Given the description of an element on the screen output the (x, y) to click on. 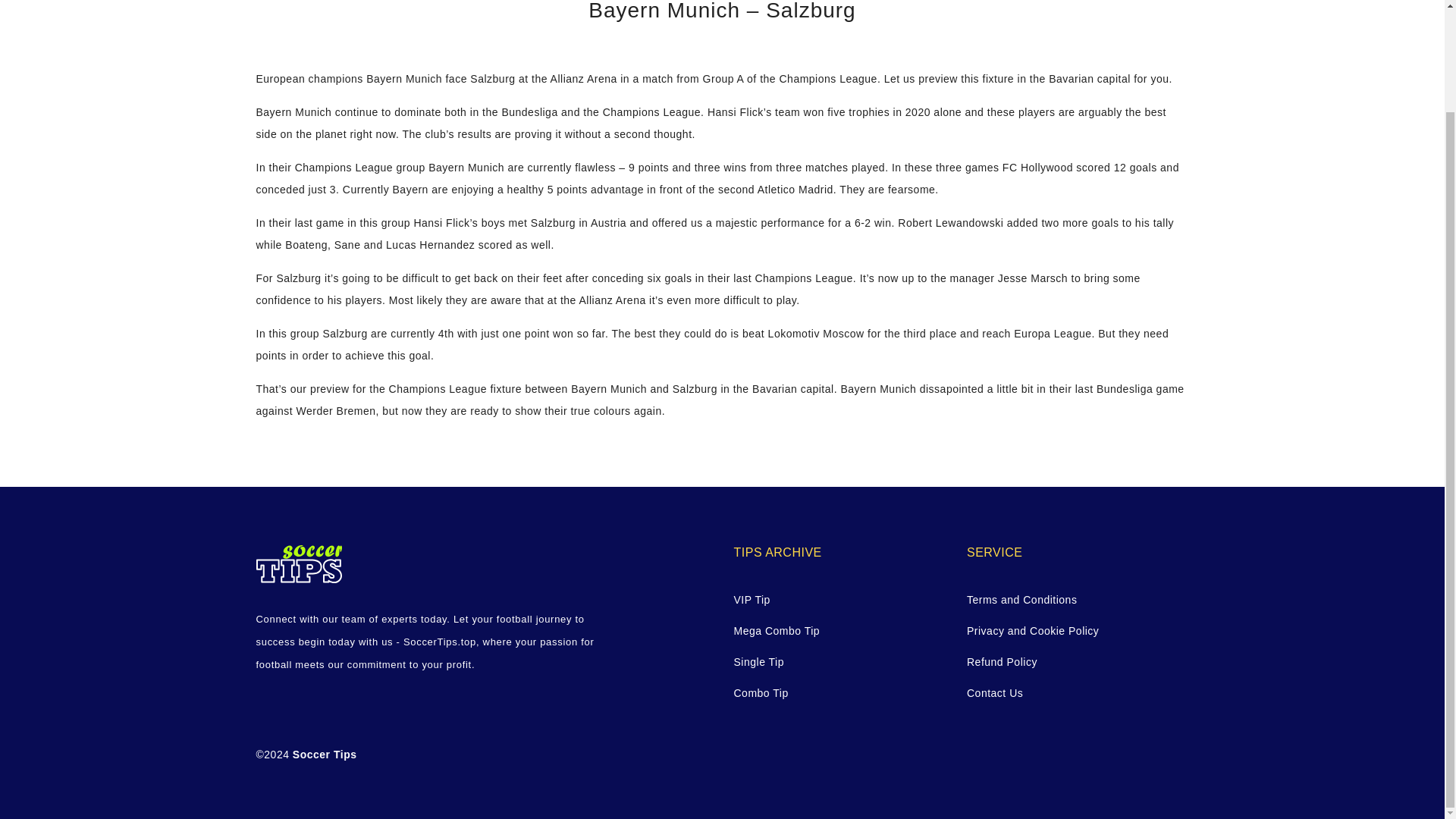
Single Tip Archive (838, 662)
Terms and Conditions (1071, 599)
Soccer Tips (324, 754)
VIP Tip (838, 599)
VIP Tip Archive (838, 599)
Refund Policy (1071, 662)
Soccer Tips (324, 754)
Contact Us (1071, 693)
Combo Tip Archive (838, 693)
Privacy and Cookie Policy (1071, 630)
